Given the description of an element on the screen output the (x, y) to click on. 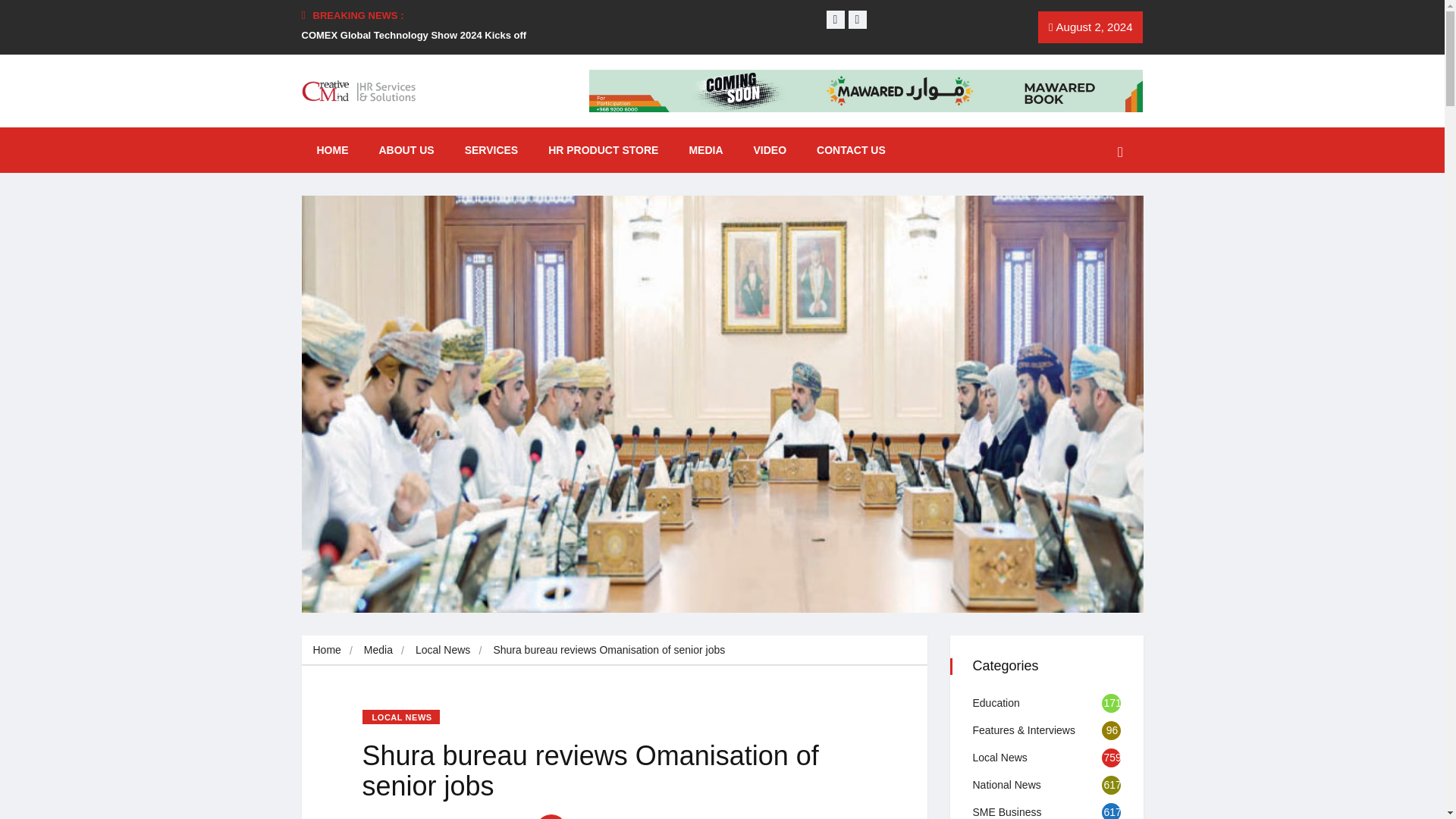
COMEX Global Technology Show 2024 Kicks off (414, 34)
